Given the description of an element on the screen output the (x, y) to click on. 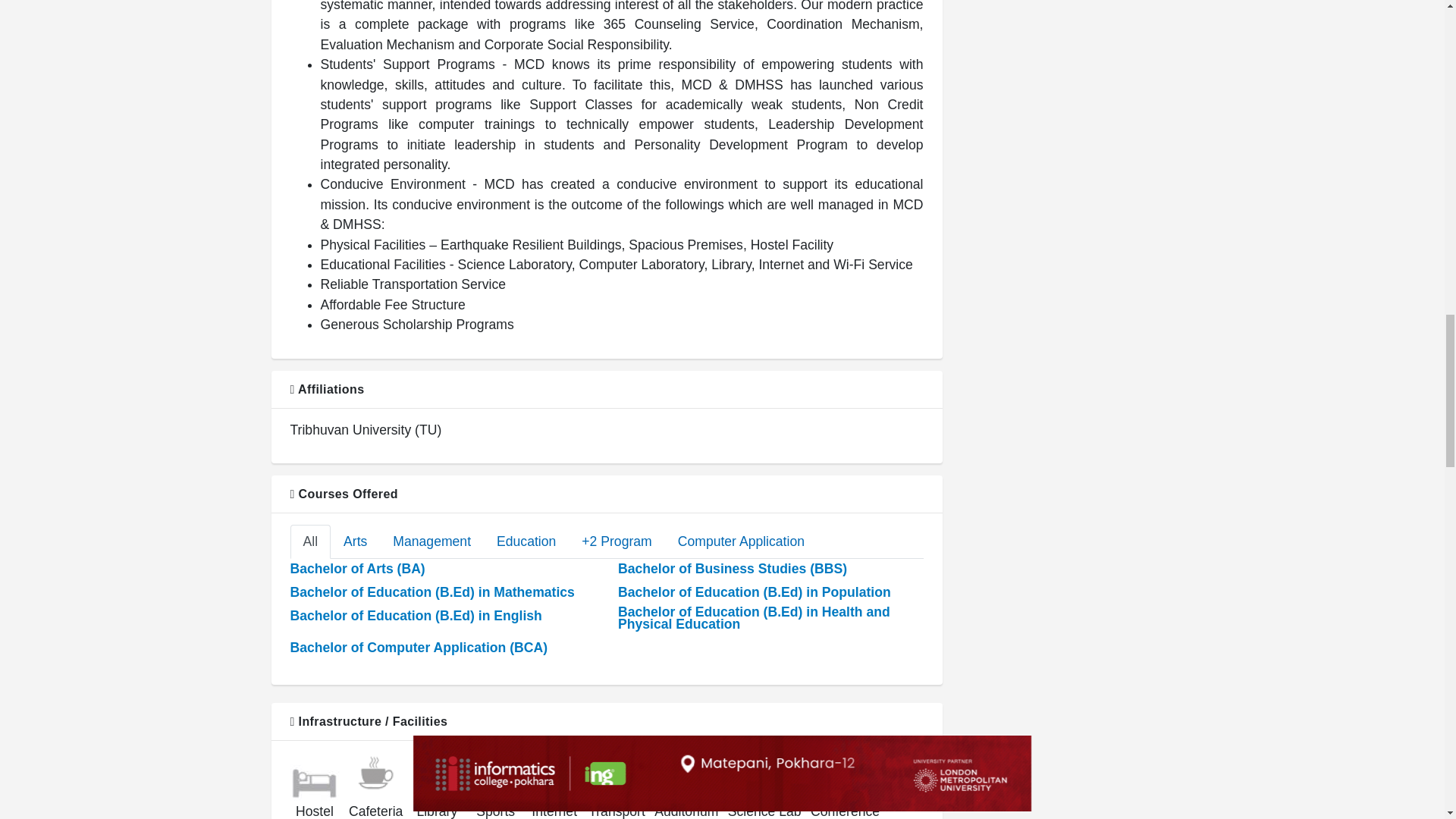
Auditorium (686, 778)
Library (436, 776)
Cafeteria (375, 776)
WiFi-Campus (554, 782)
Transportation (617, 776)
Sports (494, 776)
Hostel (314, 776)
Conference (845, 776)
